Given the description of an element on the screen output the (x, y) to click on. 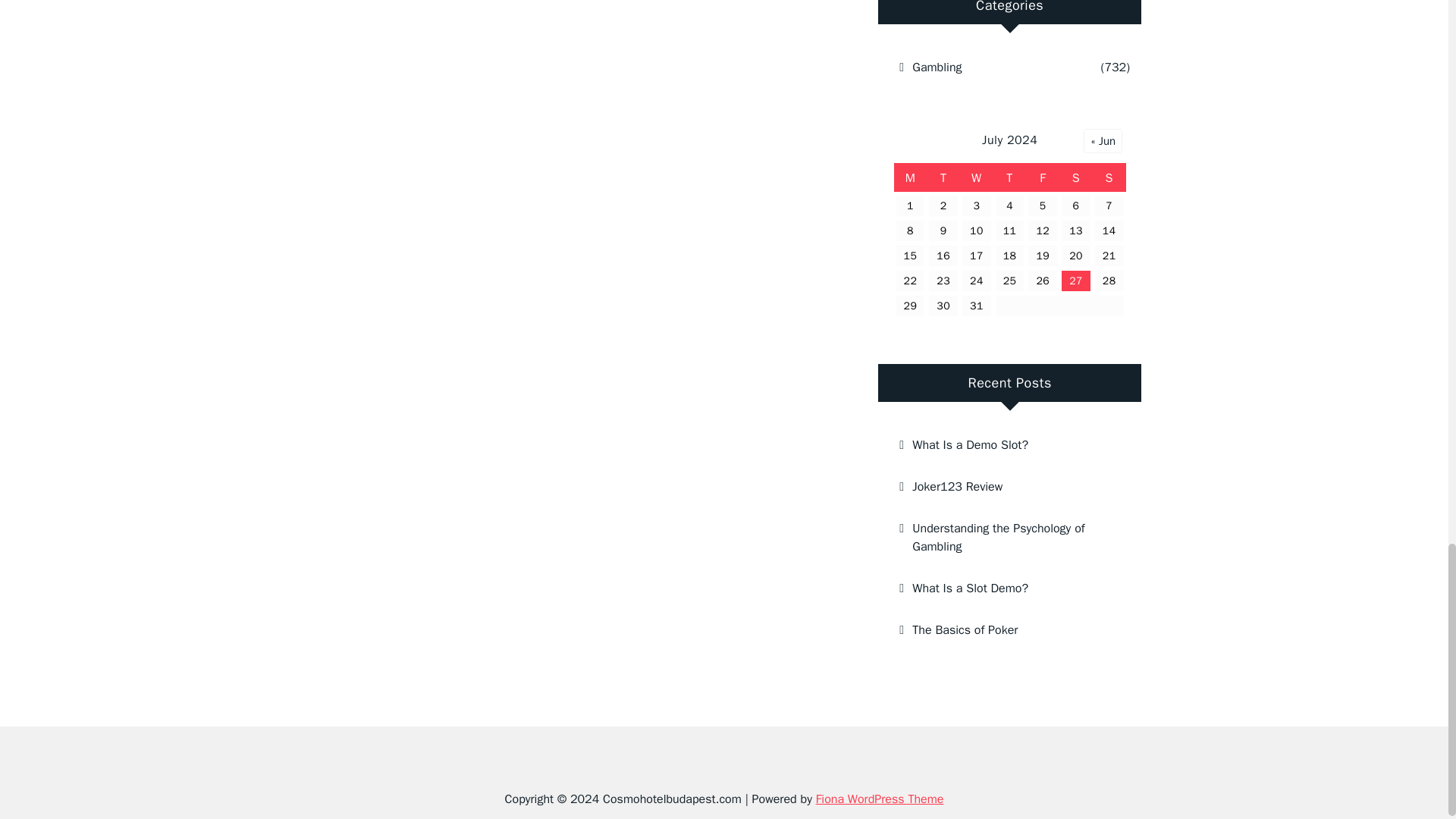
Saturday (1076, 177)
Thursday (1009, 177)
Friday (1042, 177)
Wednesday (975, 177)
Sunday (1109, 177)
Monday (910, 177)
Tuesday (942, 177)
